Given the description of an element on the screen output the (x, y) to click on. 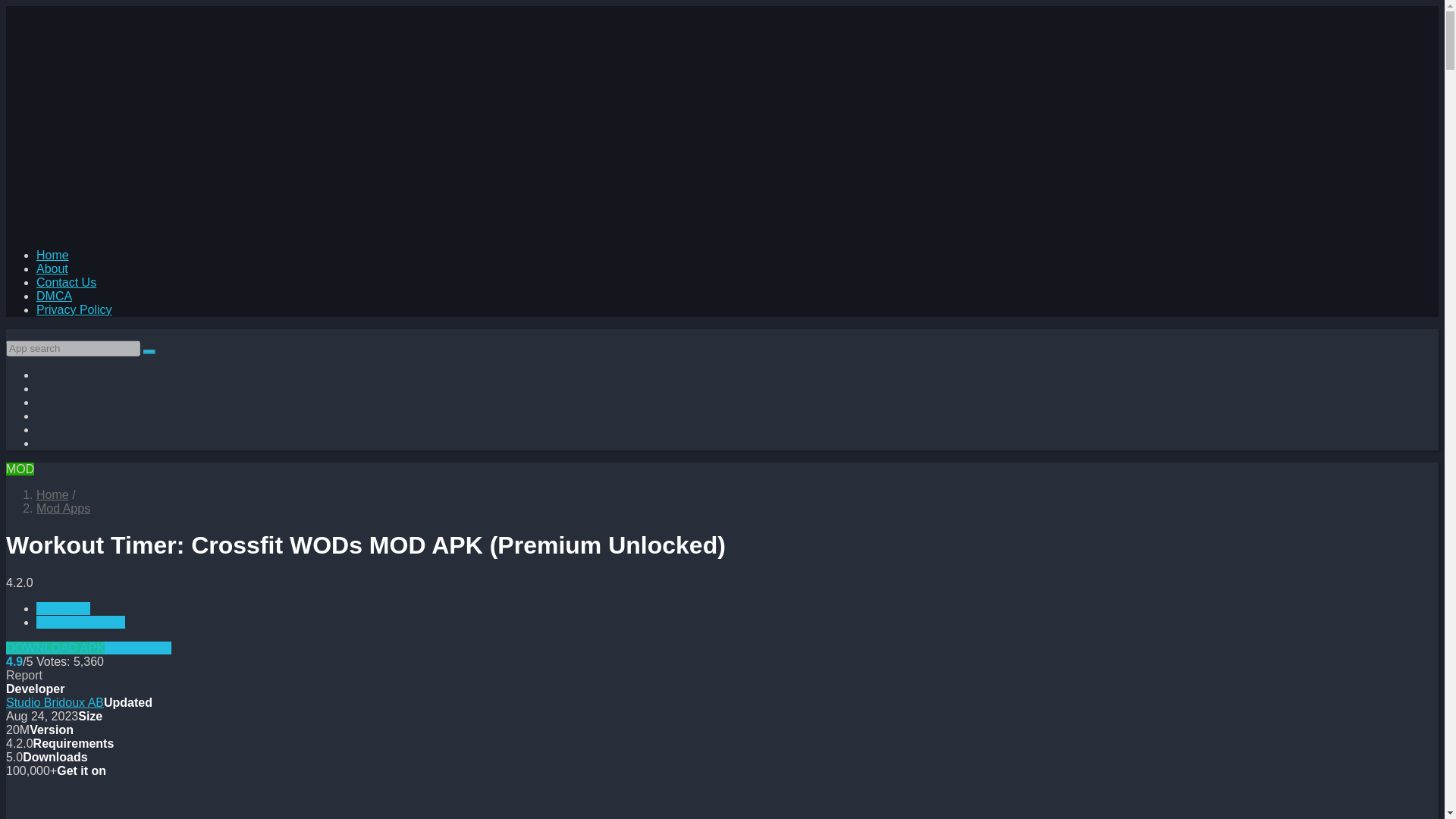
Mod Apps (63, 608)
Home (52, 254)
Studio Bridoux AB (54, 702)
DMCA (53, 295)
Mod Apps (63, 508)
App search (148, 351)
VidsLoader (52, 494)
Home (52, 494)
Privacy Policy (74, 309)
About (52, 268)
TELEGRAM (137, 647)
DOWNLOAD APK (54, 647)
Contact Us (66, 282)
Telegram (137, 647)
DOWNLOAD APK (54, 647)
